Given the description of an element on the screen output the (x, y) to click on. 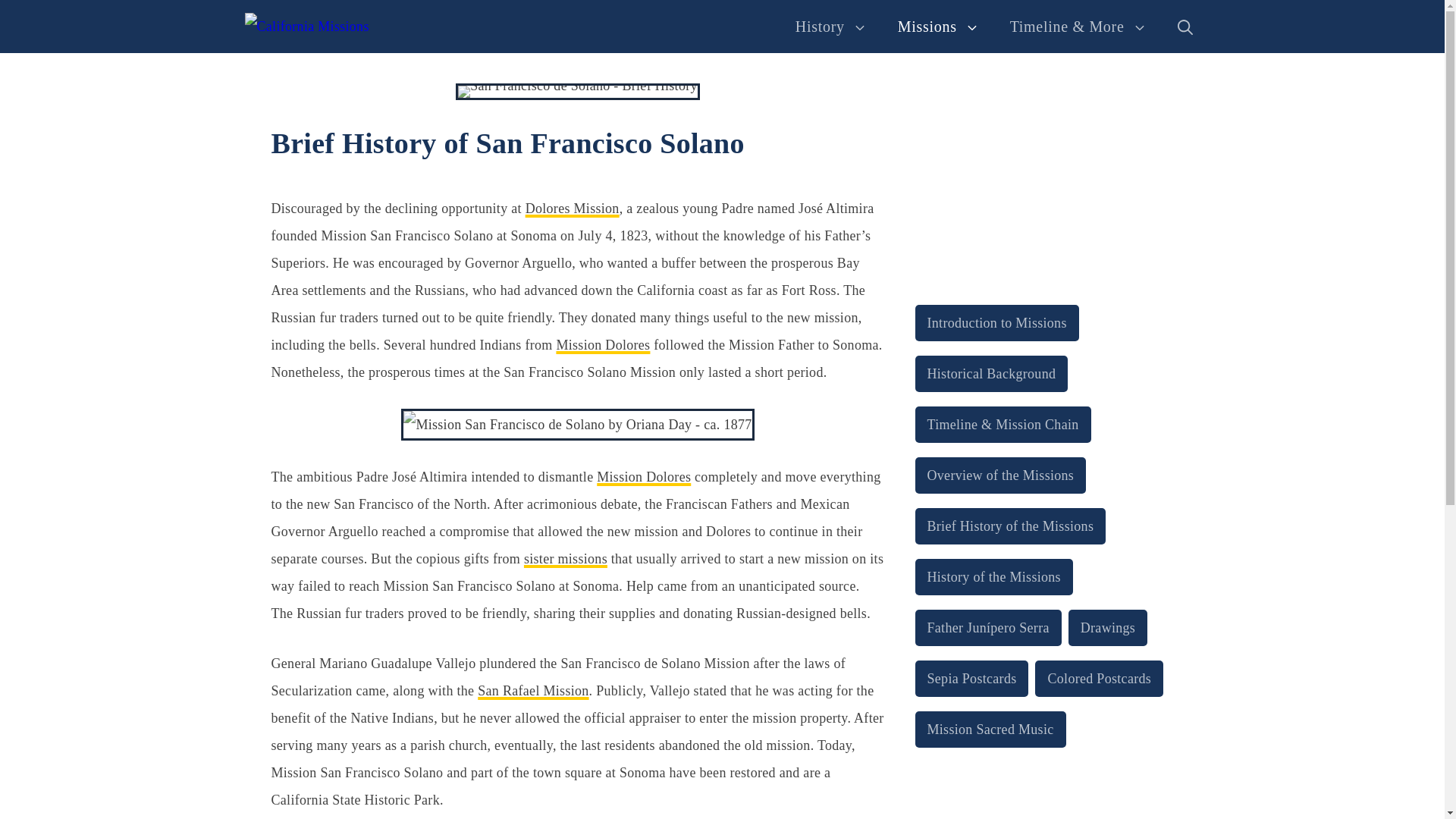
History (831, 26)
Brief History of San Francisco Solano - 2 (577, 424)
Brief History of San Francisco Solano - 1 (577, 91)
Missions (938, 26)
